Given the description of an element on the screen output the (x, y) to click on. 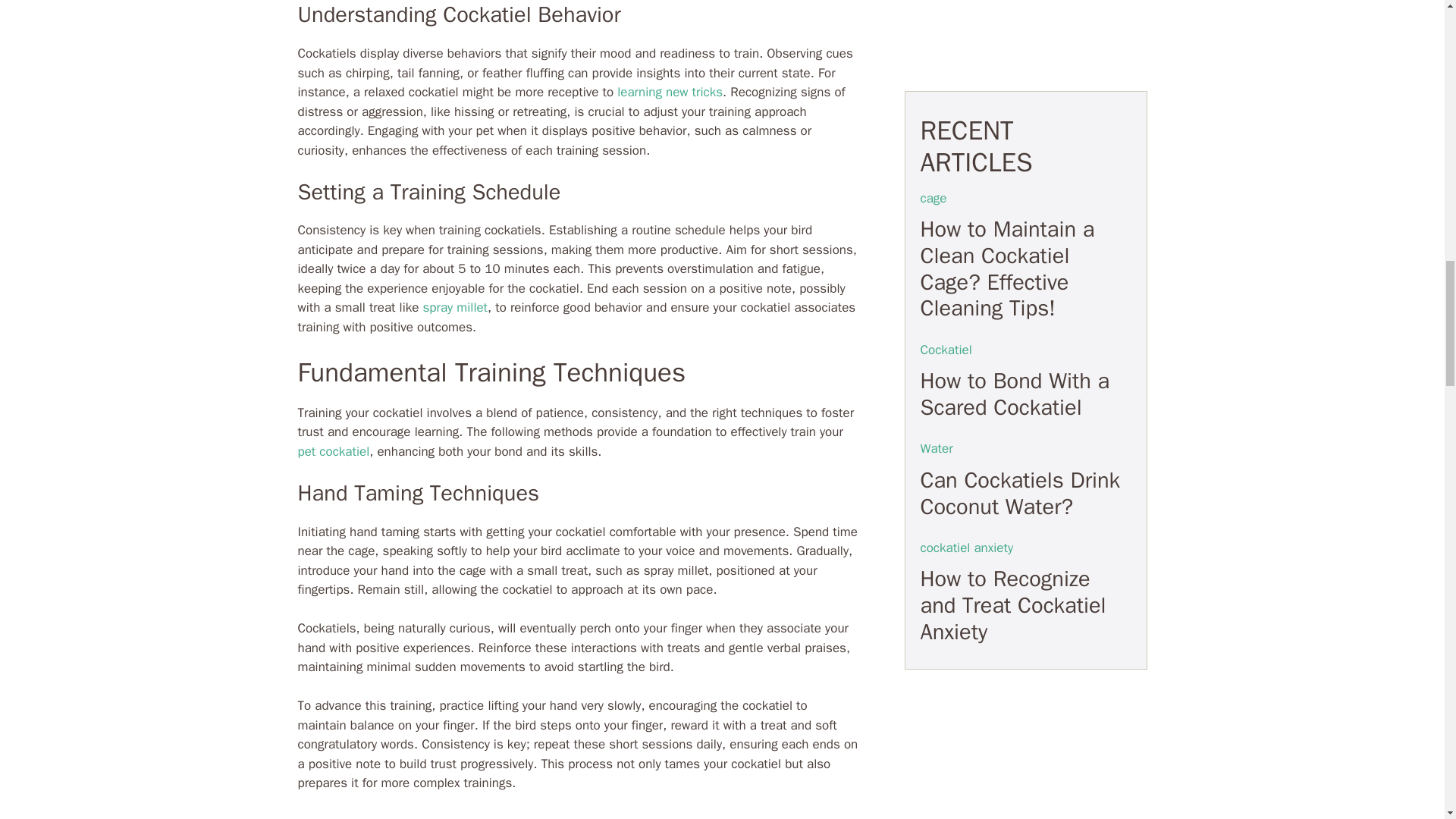
learning new tricks (669, 91)
pet cockatiel (333, 451)
spray millet (455, 307)
